Given the description of an element on the screen output the (x, y) to click on. 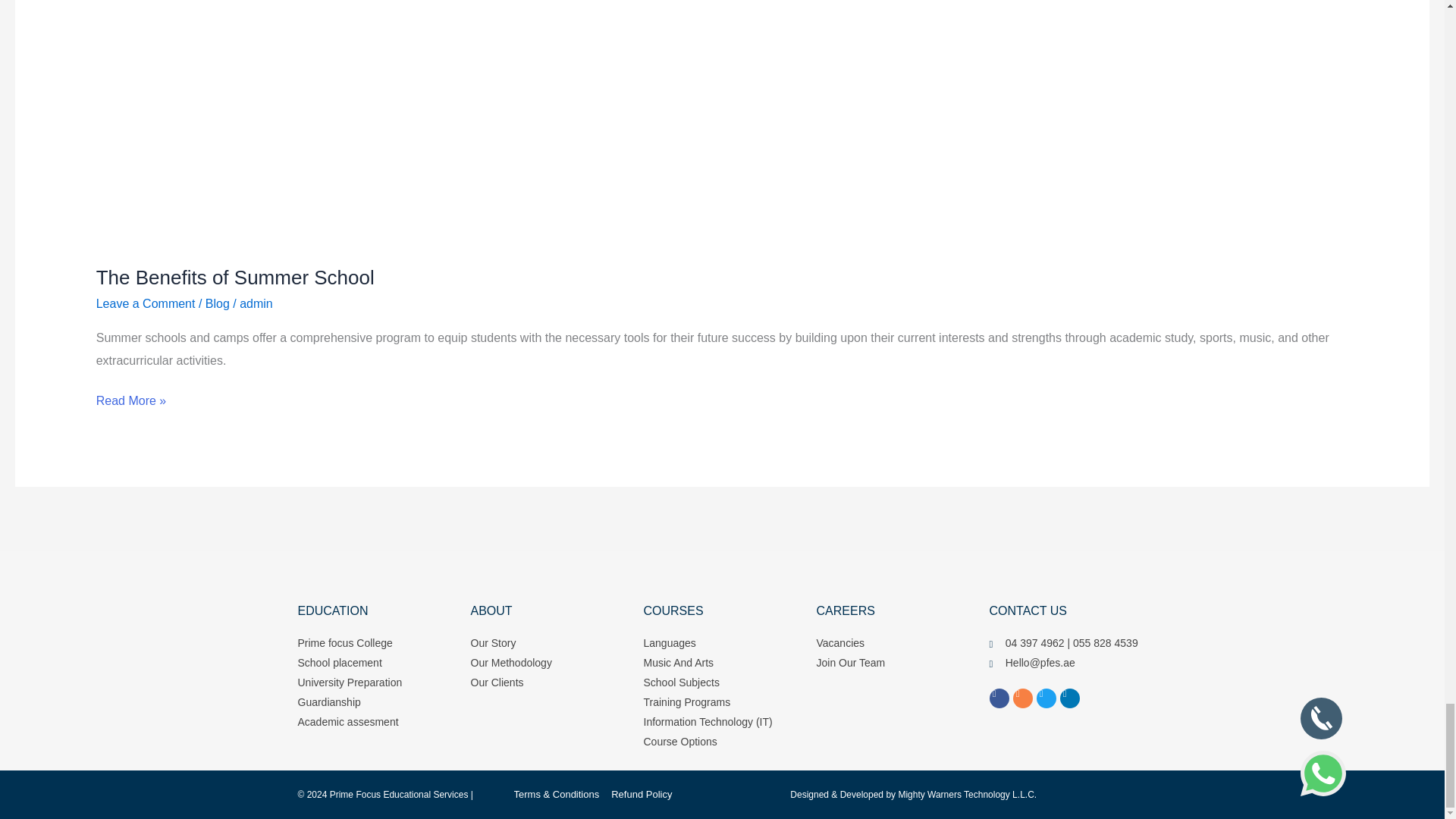
View all posts by admin (256, 302)
